Given the description of an element on the screen output the (x, y) to click on. 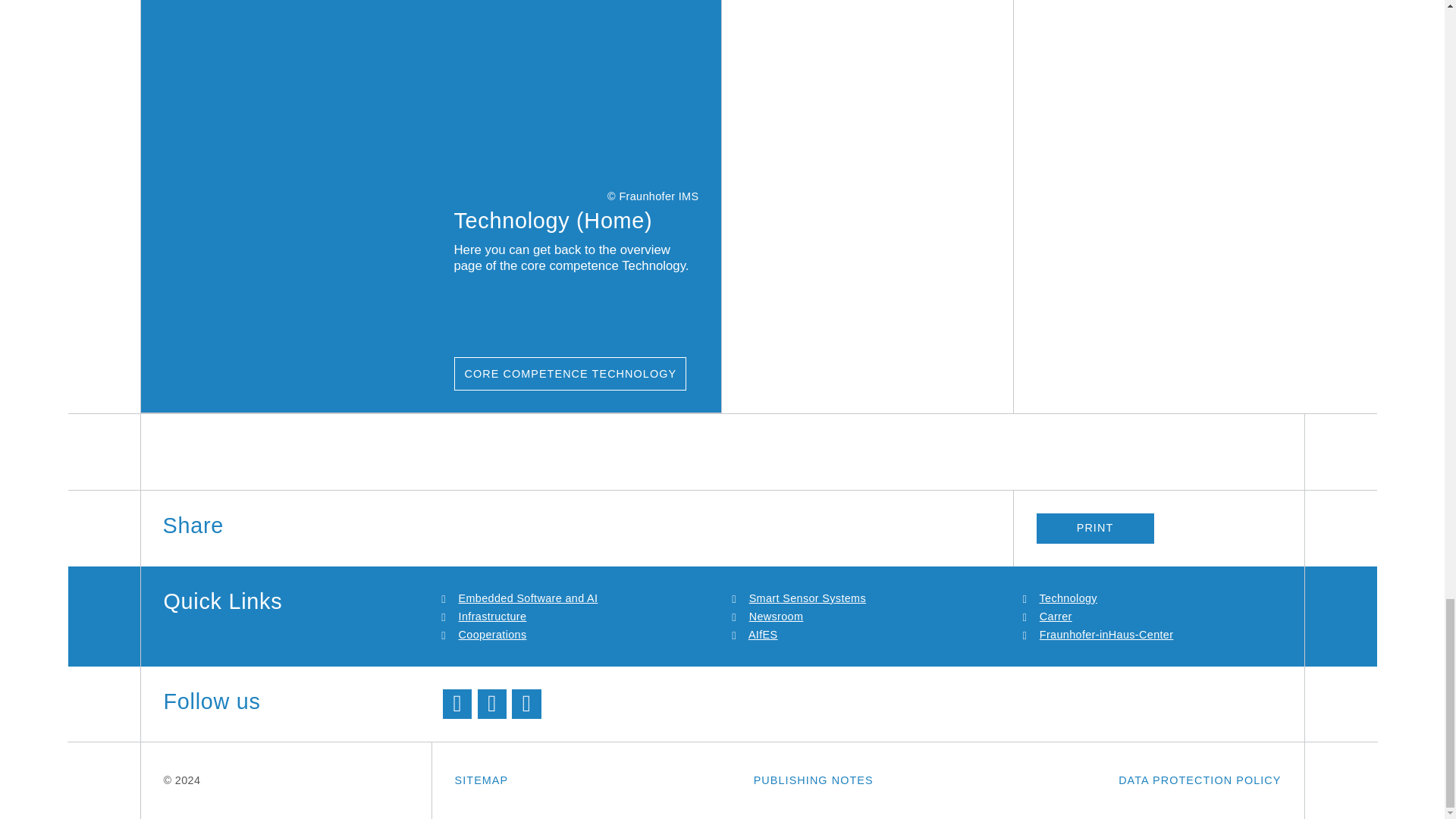
Visit us on Instagram (526, 704)
Go back to Technology Overview-page (569, 373)
